Given the description of an element on the screen output the (x, y) to click on. 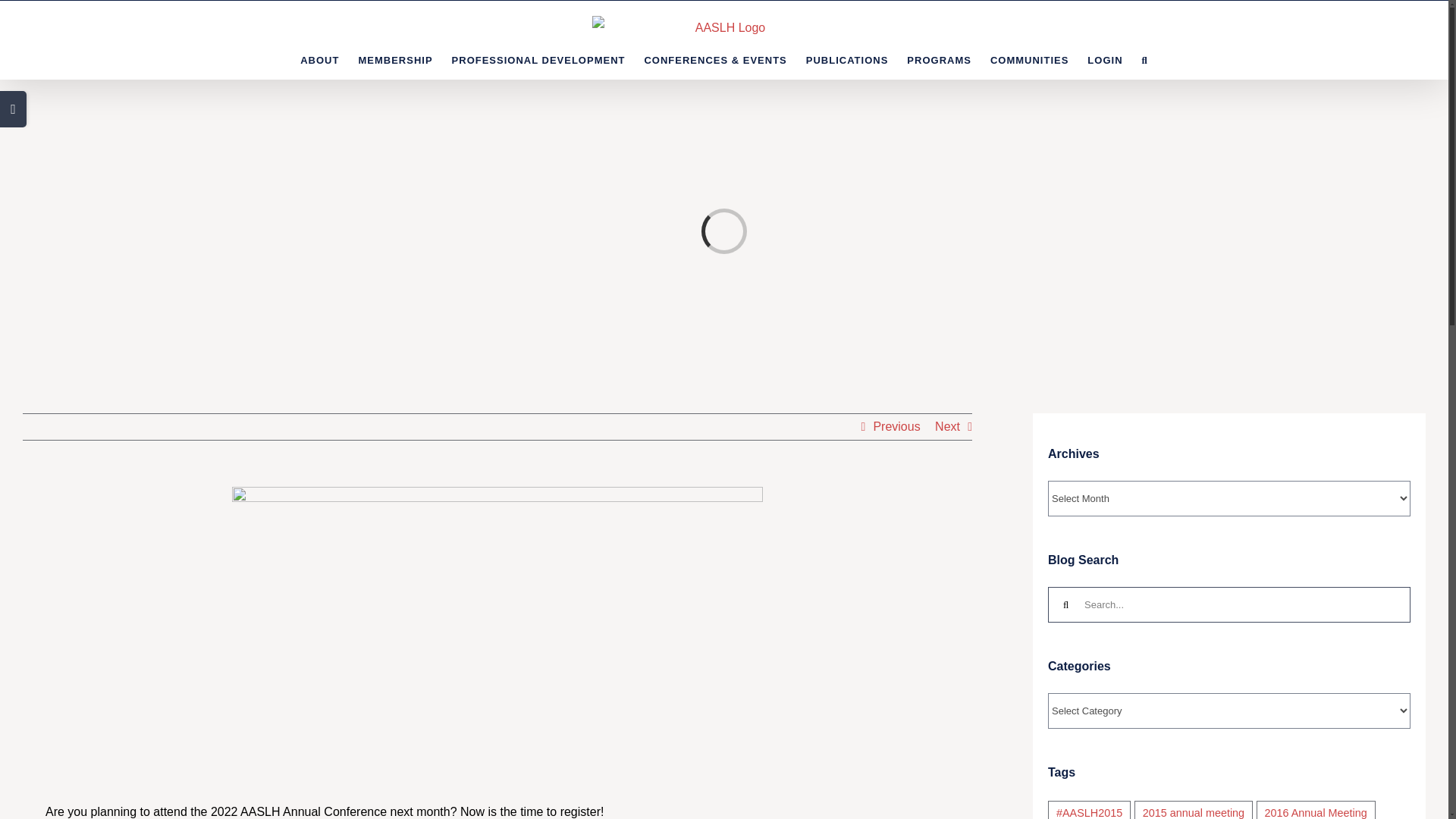
ABOUT (319, 59)
PROFESSIONAL DEVELOPMENT (538, 59)
MEMBERSHIP (395, 59)
PUBLICATIONS (847, 59)
